Given the description of an element on the screen output the (x, y) to click on. 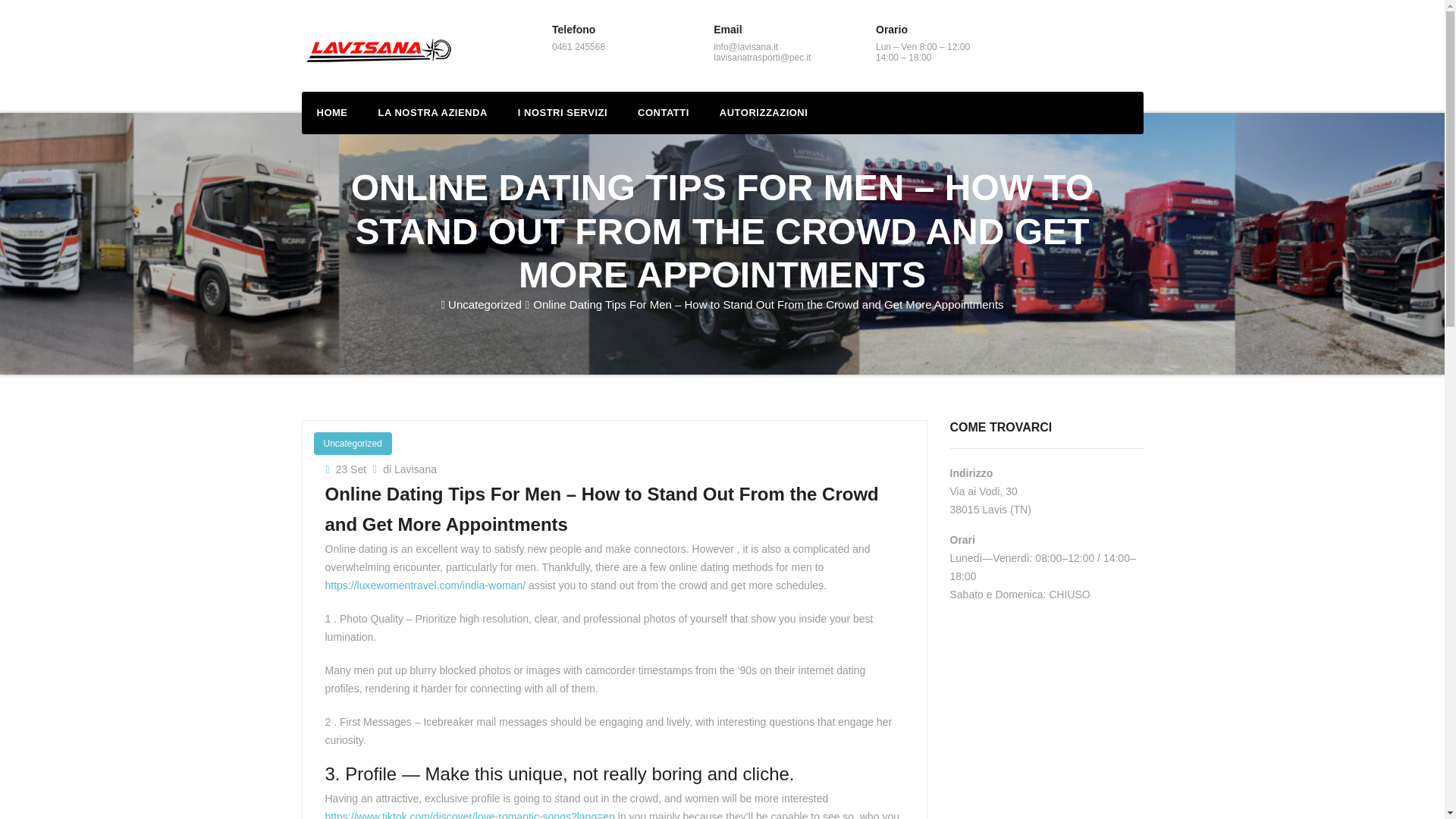
di Lavisana (404, 469)
LA NOSTRA AZIENDA (432, 112)
Uncategorized (352, 443)
LA NOSTRA AZIENDA (432, 112)
Home (331, 112)
Contatti (663, 112)
I NOSTRI SERVIZI (562, 112)
Uncategorized (484, 304)
HOME (331, 112)
Autorizzazioni (764, 112)
CONTATTI (663, 112)
AUTORIZZAZIONI (764, 112)
I NOSTRI SERVIZI (562, 112)
